Given the description of an element on the screen output the (x, y) to click on. 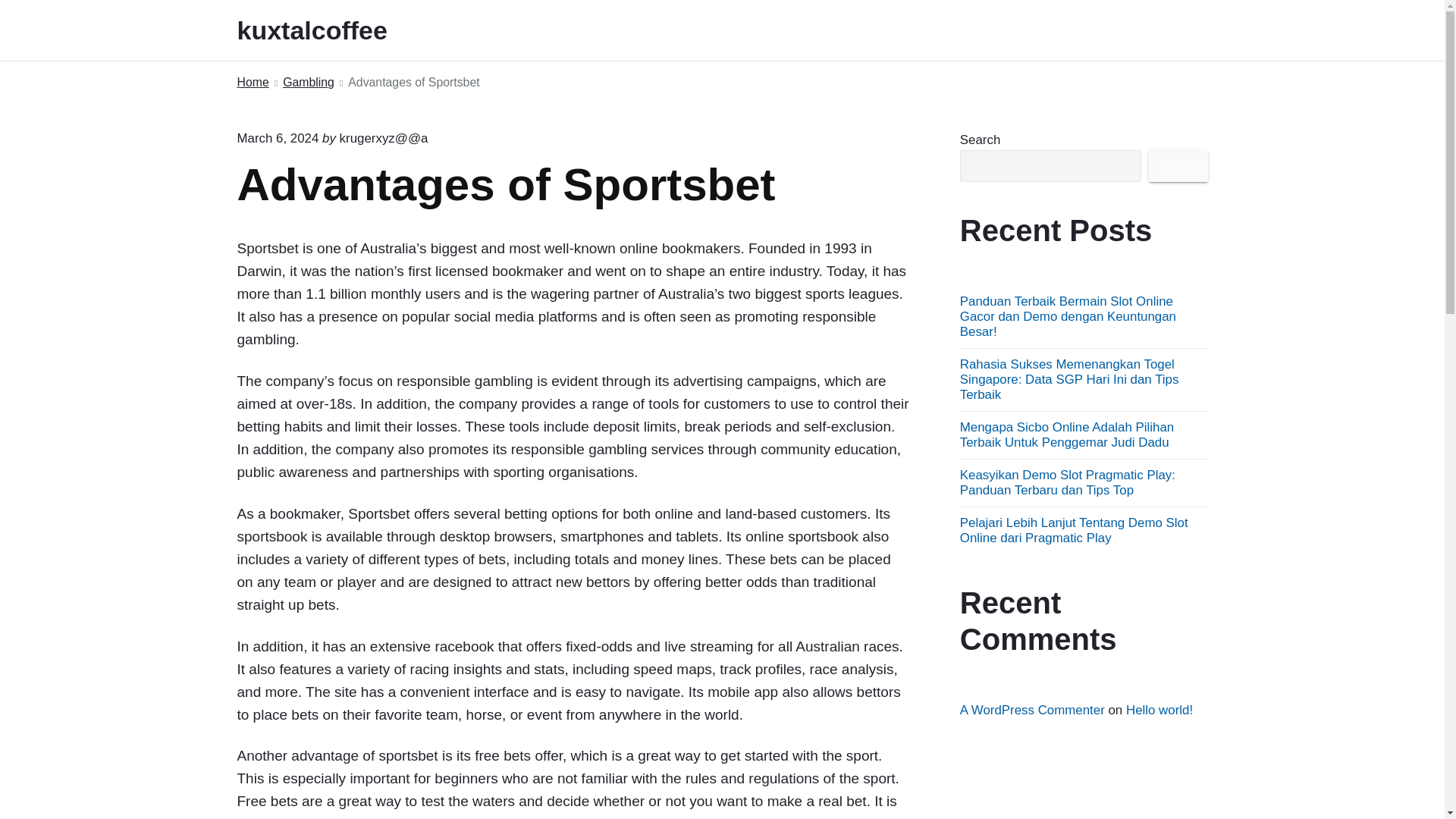
A WordPress Commenter (1032, 709)
Gambling (308, 82)
SEARCH (1178, 165)
Home (251, 82)
Hello world! (1158, 709)
Wednesday, March 6, 2024, 8:49 pm (276, 138)
kuxtalcoffee (331, 30)
